Given the description of an element on the screen output the (x, y) to click on. 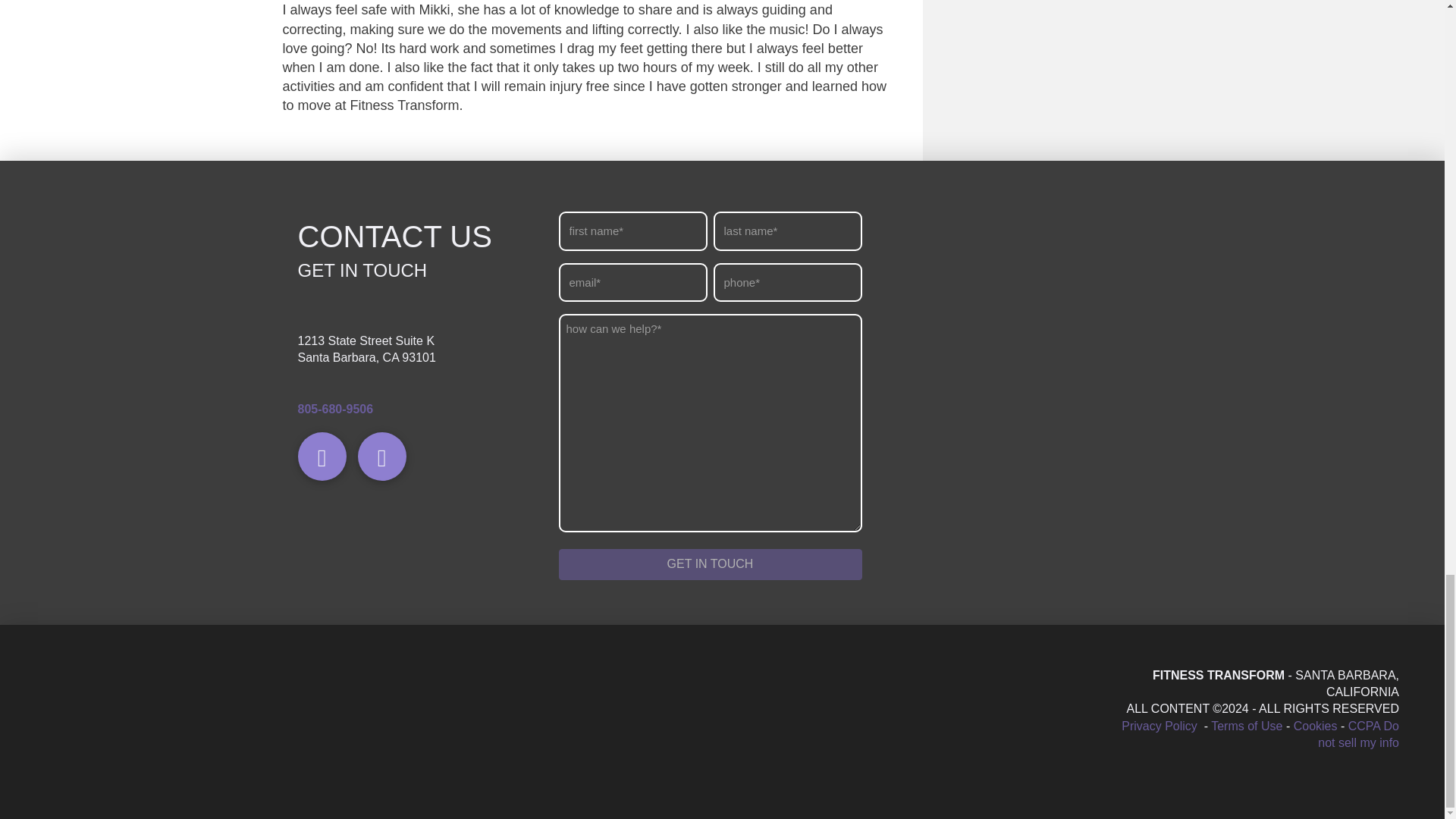
GET IN TOUCH (709, 563)
GET IN TOUCH (709, 563)
Privacy Policy (1160, 725)
805-680-9506 (334, 408)
Privacy Policy (1160, 725)
CCPA Do not sell my info (1358, 734)
Terms of Use (1246, 725)
Cookies (1316, 725)
